Given the description of an element on the screen output the (x, y) to click on. 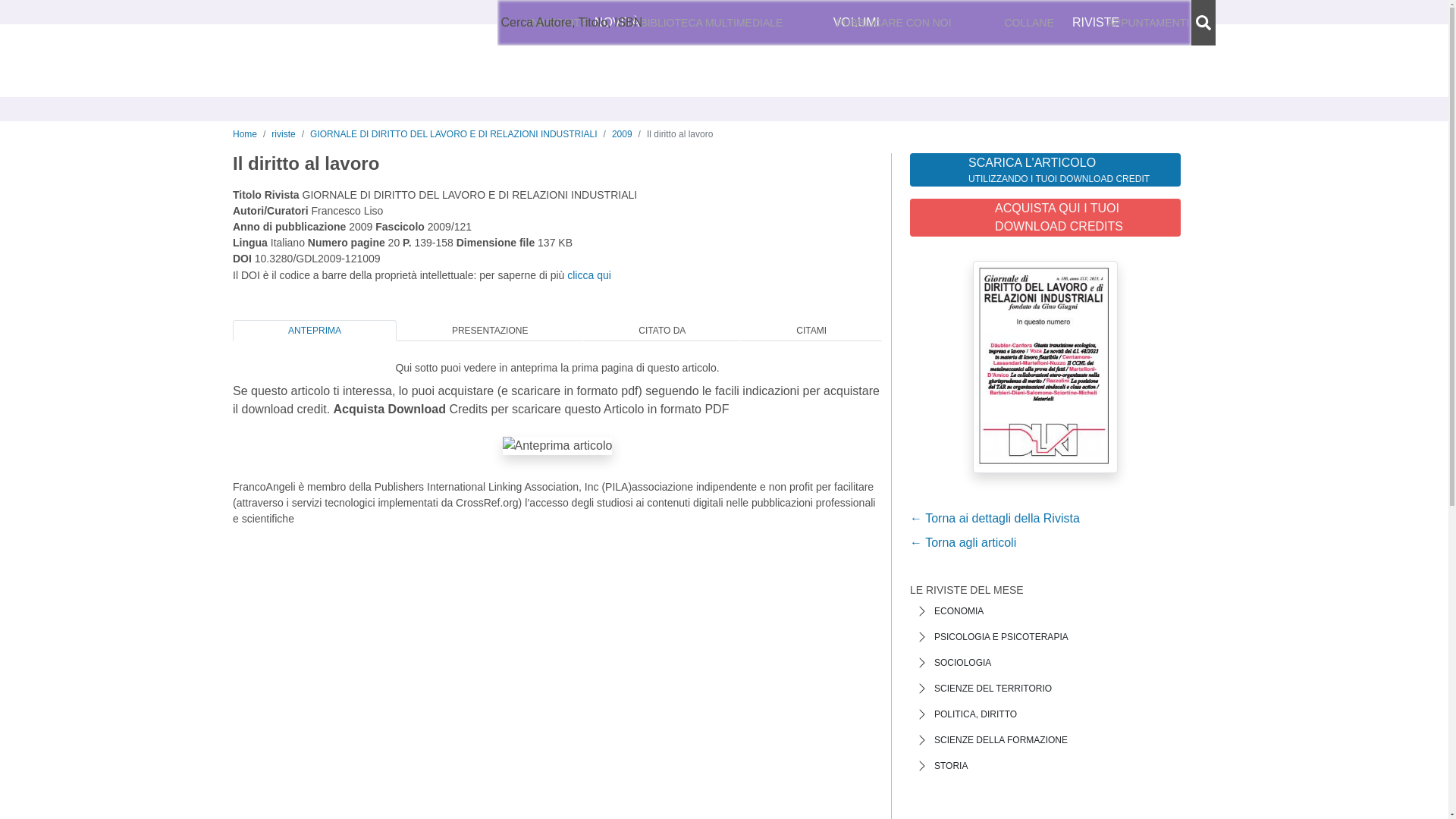
Ricerca Avanzata (567, 22)
PUBBLICARE CON NOI (892, 22)
ITA (924, 22)
BIBLIOTECA MULTIMEDIALE (711, 22)
contatti (577, 23)
Accedi (997, 22)
Preferiti (1082, 22)
Carrello (1170, 22)
aiuto (619, 23)
chi siamo (525, 23)
